Given the description of an element on the screen output the (x, y) to click on. 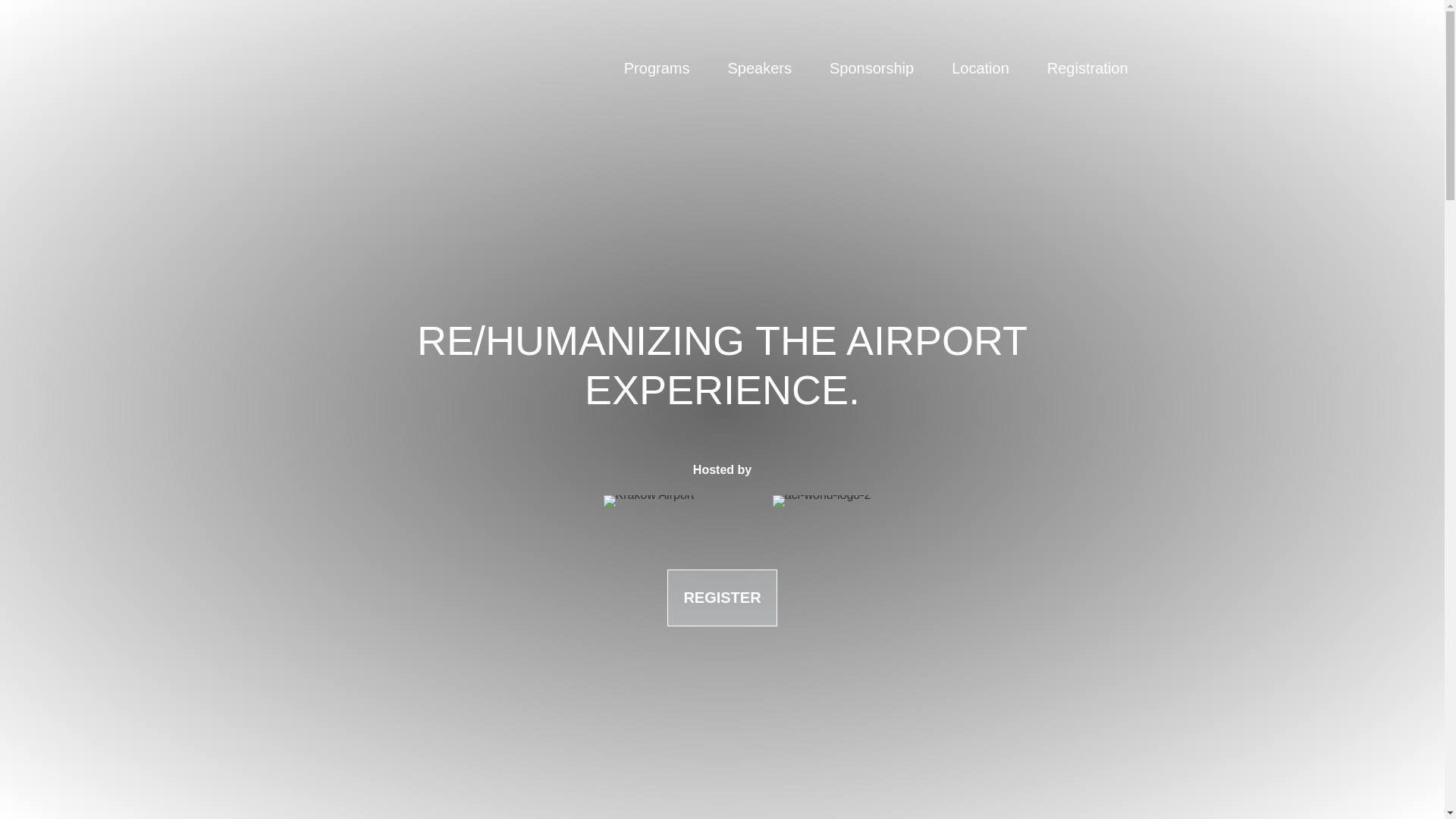
Programs (656, 68)
Location (980, 68)
ACI Customer Experience Global Summit (388, 68)
Sponsorship (870, 68)
REGISTER (721, 597)
aci-world-logo-2 (821, 494)
Speakers (759, 68)
Registration (1088, 68)
